Given the description of an element on the screen output the (x, y) to click on. 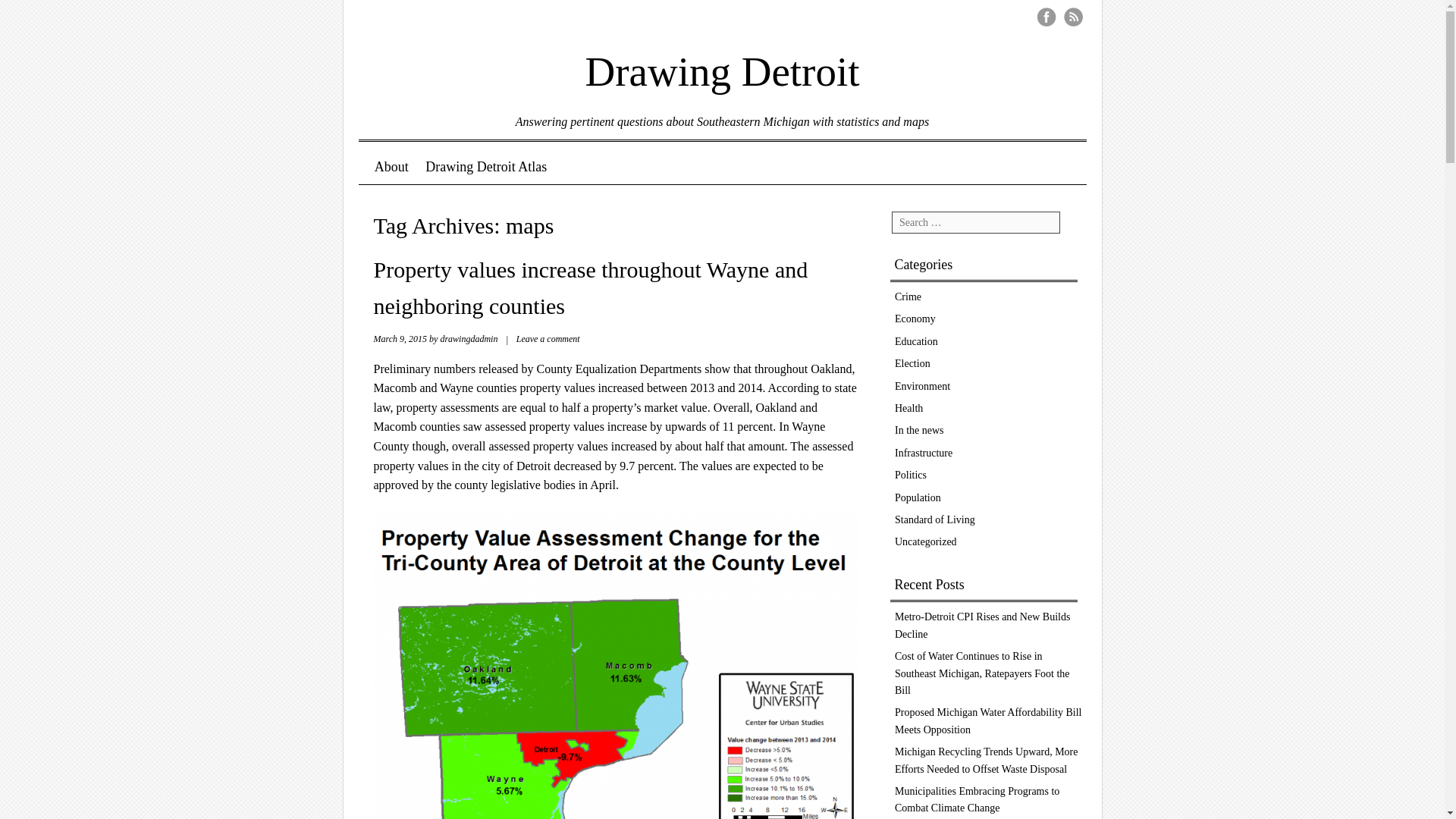
Metro-Detroit CPI Rises and New Builds Decline (982, 624)
In the news (919, 430)
Standard of Living (935, 519)
Population (917, 497)
Drawing Detroit (722, 61)
Education (916, 341)
Municipalities Embracing Programs to Combat Climate Change (977, 799)
Health (909, 408)
